Given the description of an element on the screen output the (x, y) to click on. 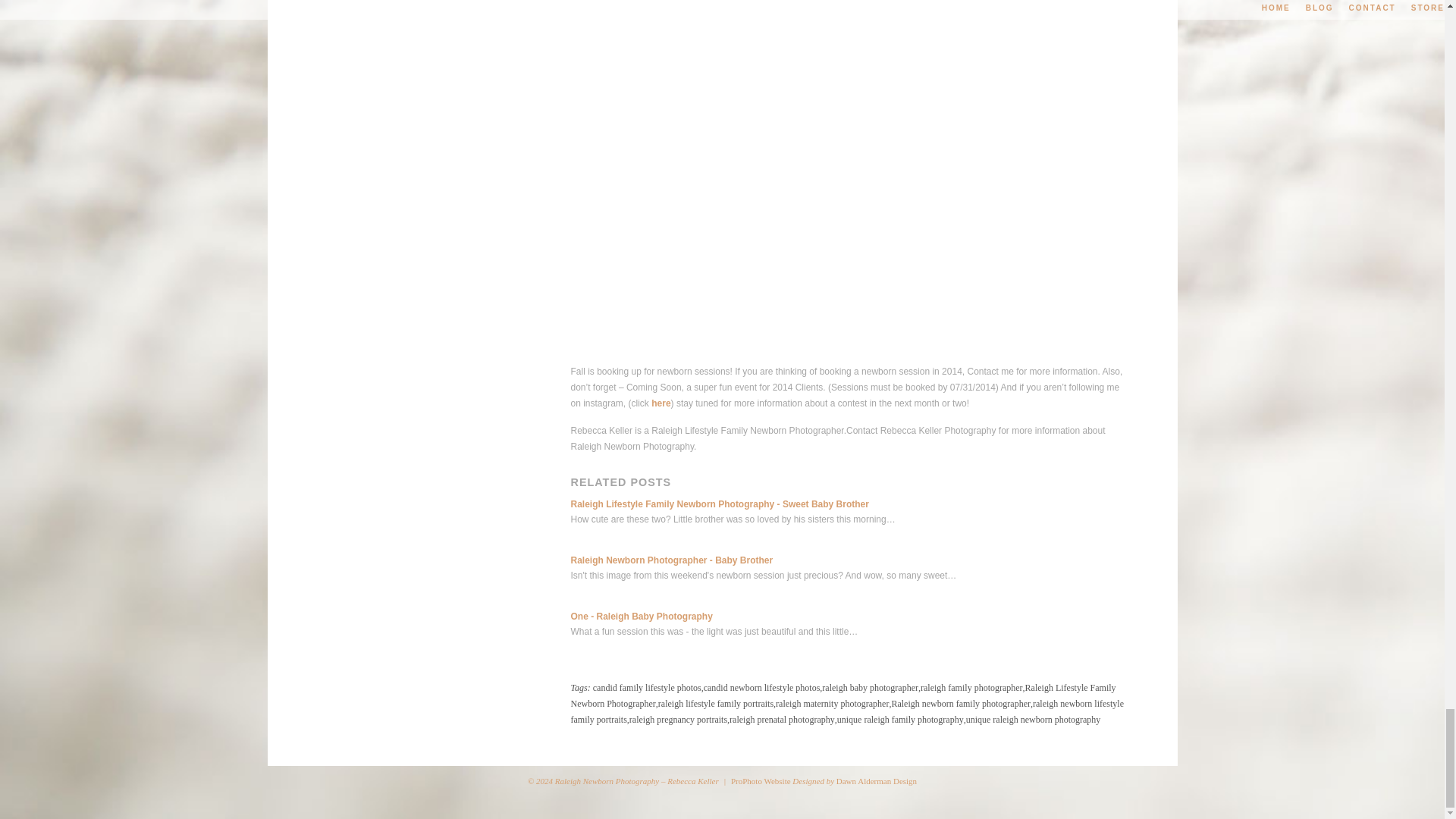
ProPhoto Photo Website (760, 780)
